Given the description of an element on the screen output the (x, y) to click on. 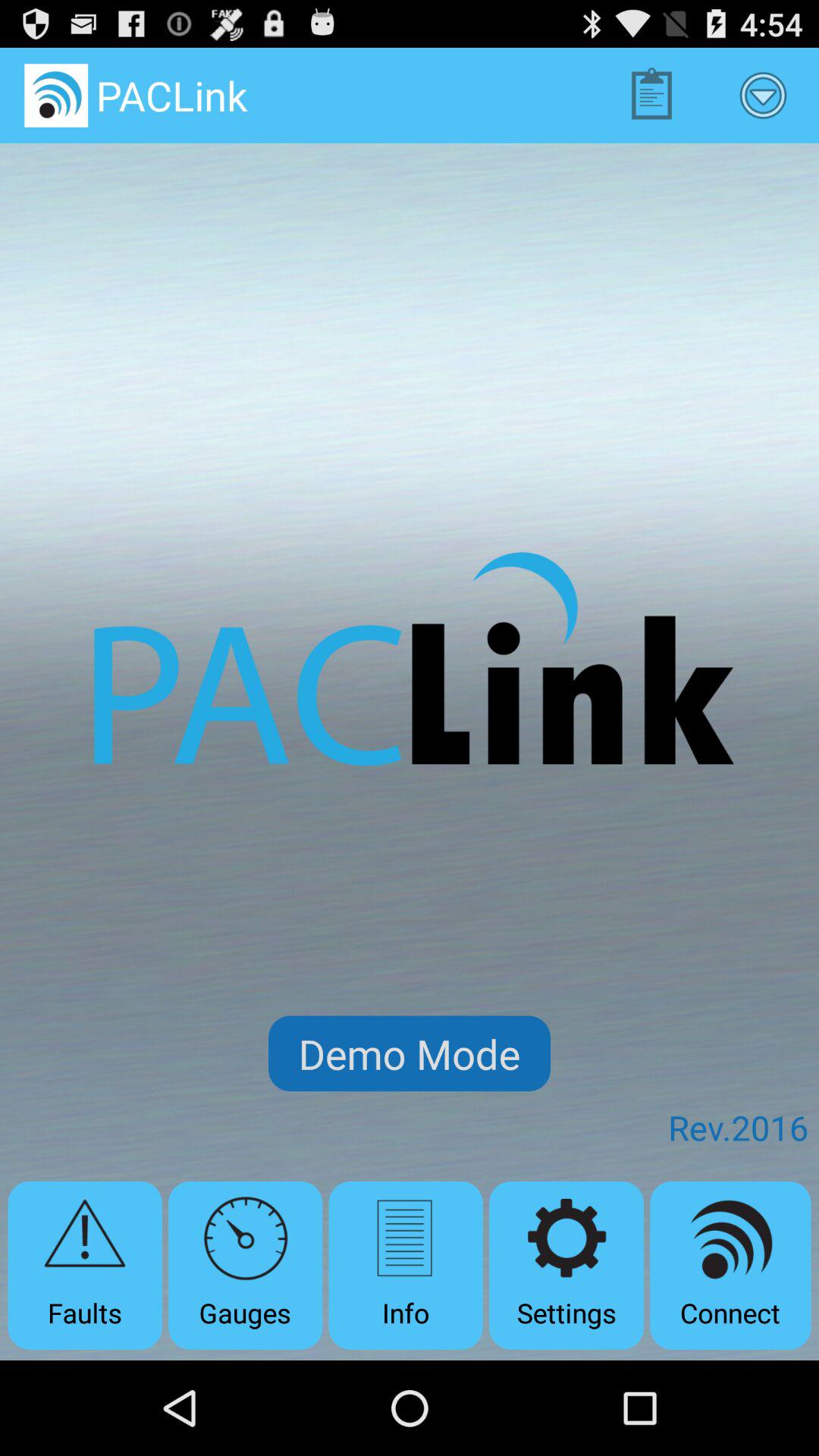
tap the settings icon (566, 1265)
